Given the description of an element on the screen output the (x, y) to click on. 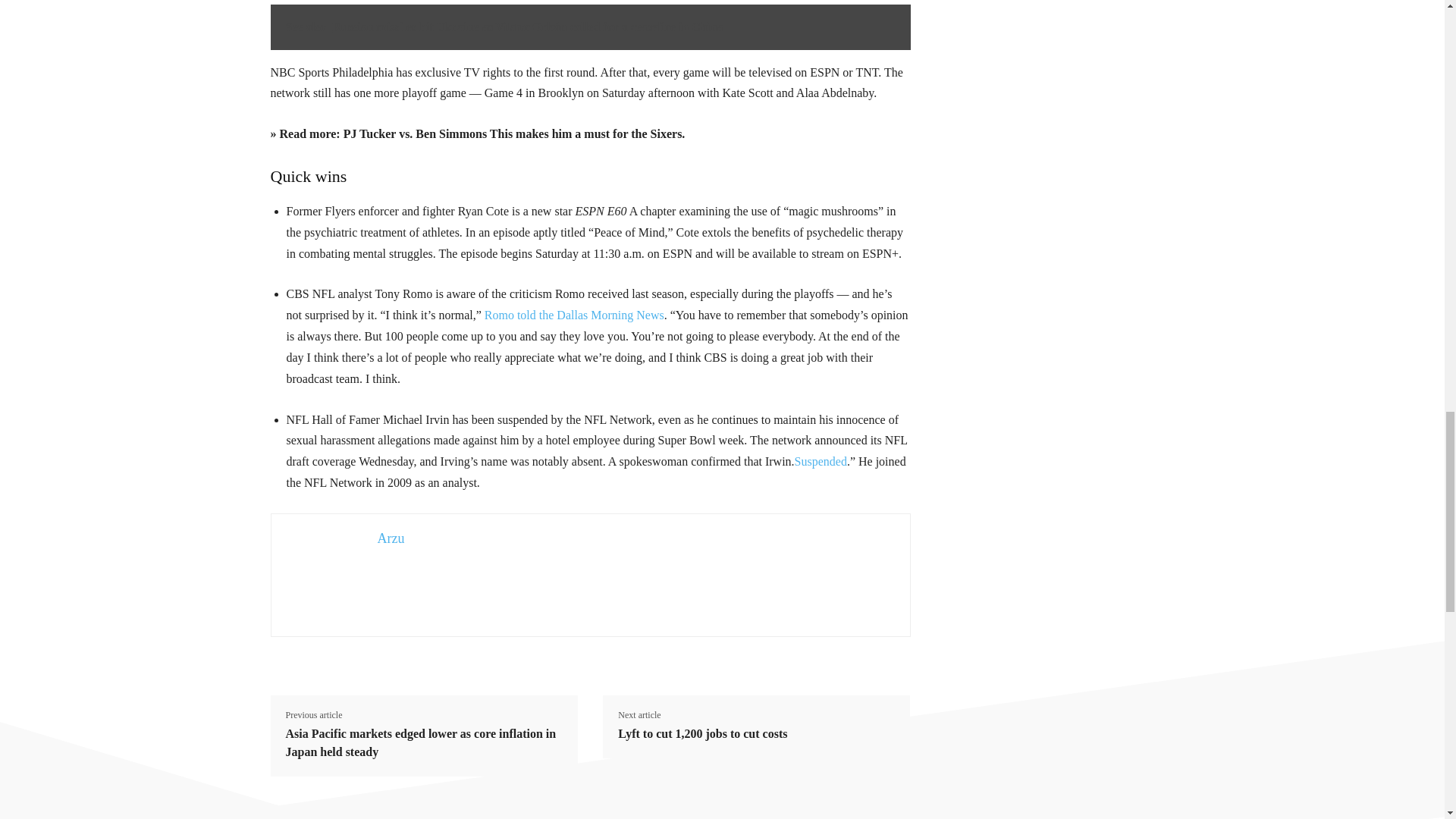
Suspended (820, 461)
Romo told the Dallas Morning News (573, 314)
Lyft to cut 1,200 jobs to cut costs (702, 733)
Arzu (390, 538)
